Given the description of an element on the screen output the (x, y) to click on. 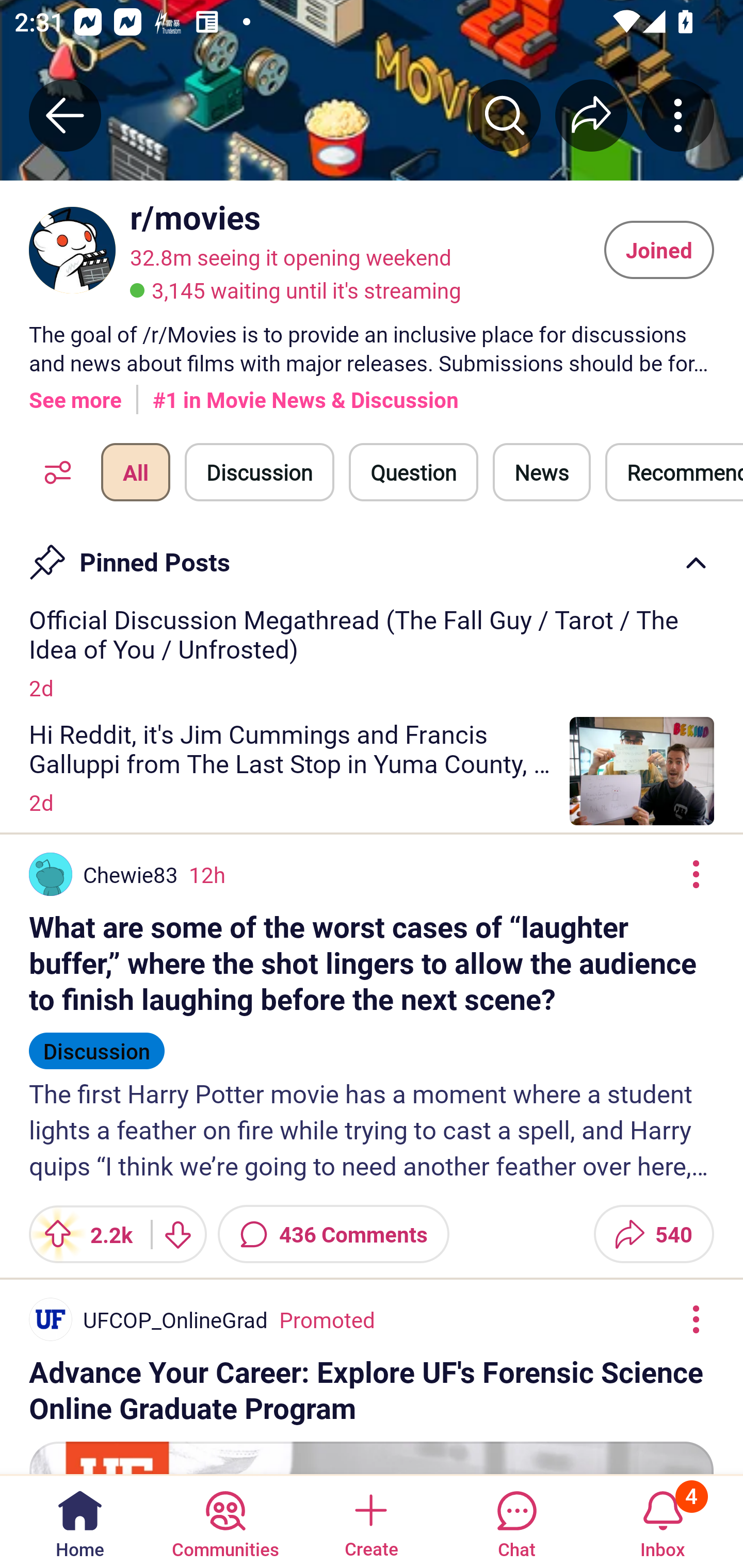
Back (64, 115)
Search r/﻿movies (504, 115)
Share r/﻿movies (591, 115)
More community actions (677, 115)
Feed Options (53, 472)
All (135, 472)
Discussion (259, 472)
Question (413, 472)
News (541, 472)
Recommendation (674, 472)
Pin Pinned Posts Caret (371, 555)
Discussion (96, 1042)
Home (80, 1520)
Communities (225, 1520)
Create a post Create (370, 1520)
Chat (516, 1520)
Inbox, has 4 notifications 4 Inbox (662, 1520)
